Given the description of an element on the screen output the (x, y) to click on. 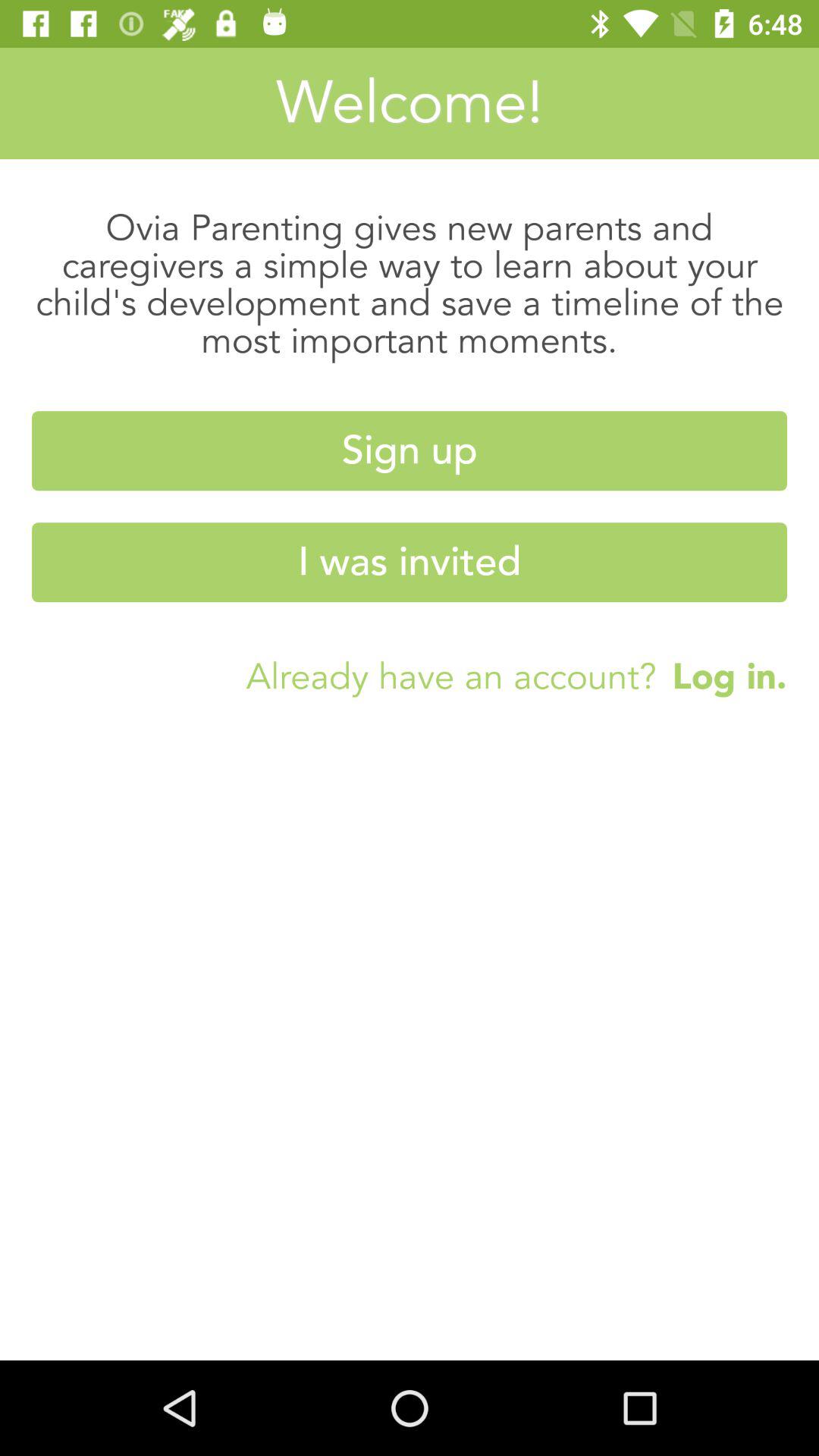
press the icon below the ovia parenting gives icon (409, 450)
